Given the description of an element on the screen output the (x, y) to click on. 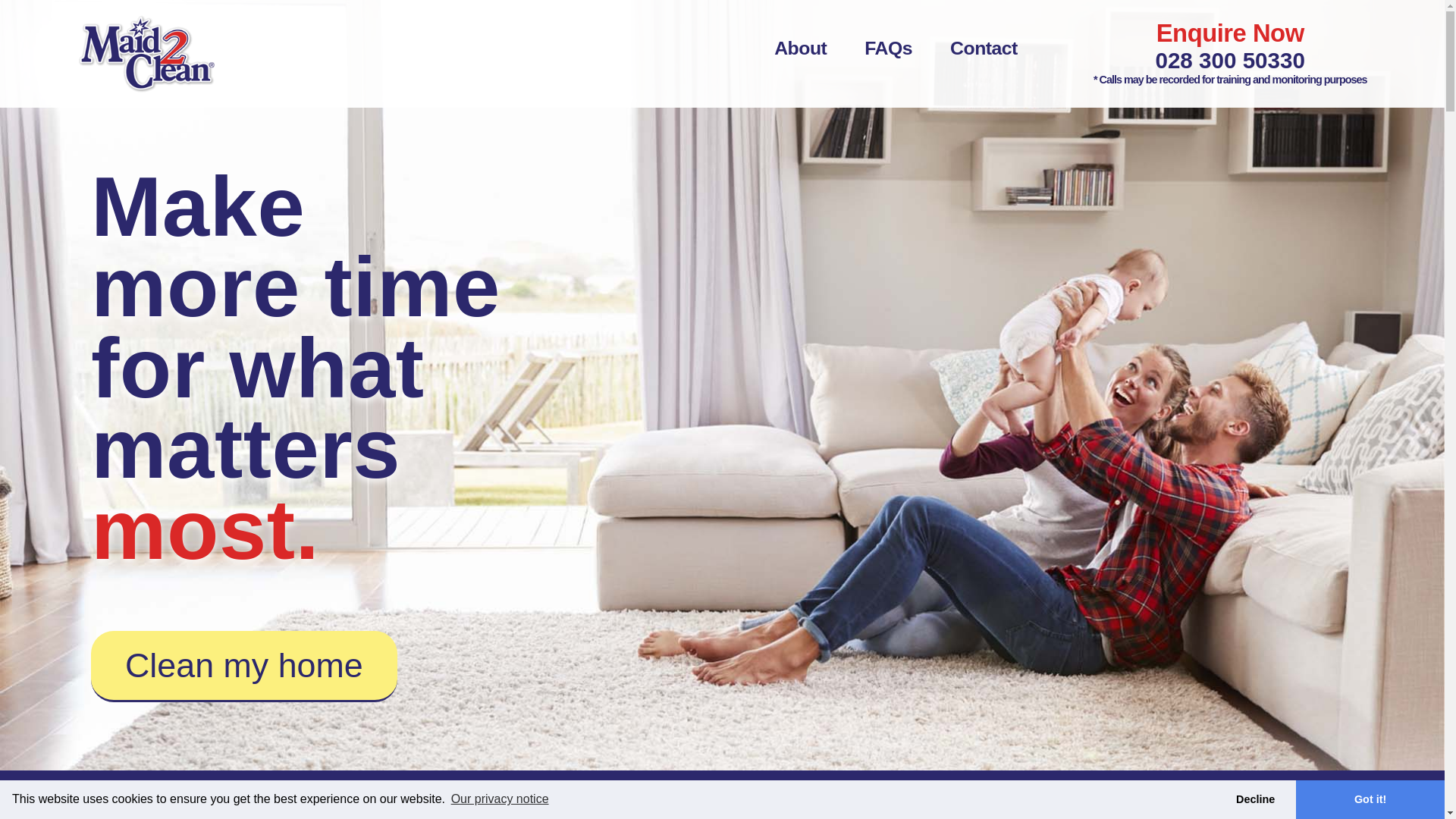
028 300 50330 (1229, 59)
About (800, 46)
Enquire Now (1230, 32)
Clean my home (243, 665)
FAQs (888, 46)
Contact (983, 46)
Decline (1254, 799)
Our privacy notice (499, 798)
